Given the description of an element on the screen output the (x, y) to click on. 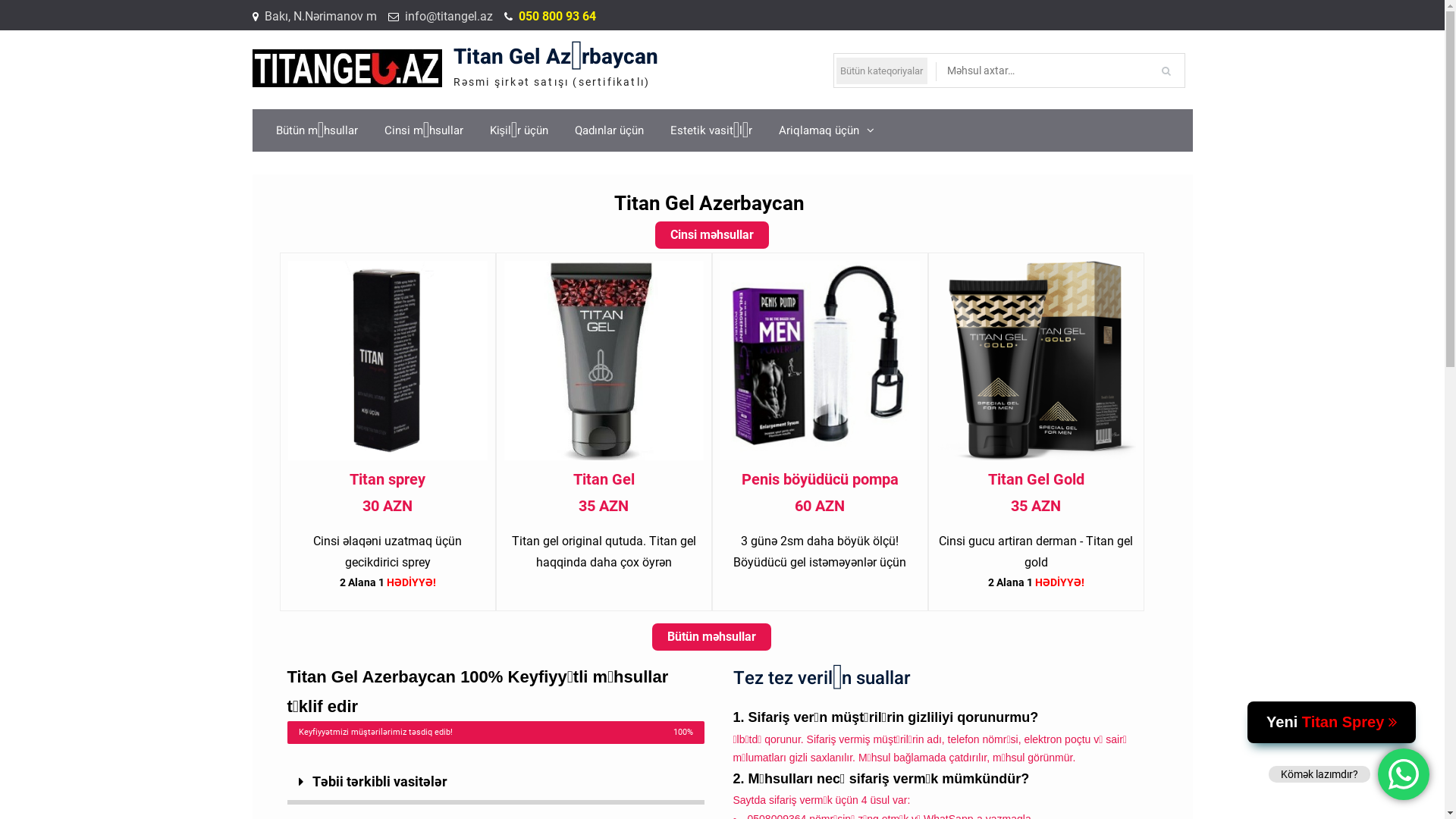
Titan Gel Gold
35 AZN Element type: text (1035, 492)
Titan sprey
30 AZN Element type: text (387, 492)
Titan Sprey Element type: text (1349, 721)
info@titangel.az Element type: text (448, 16)
050 800 93 64 Element type: text (557, 16)
Titan Gel
35 AZN Element type: text (603, 492)
